Given the description of an element on the screen output the (x, y) to click on. 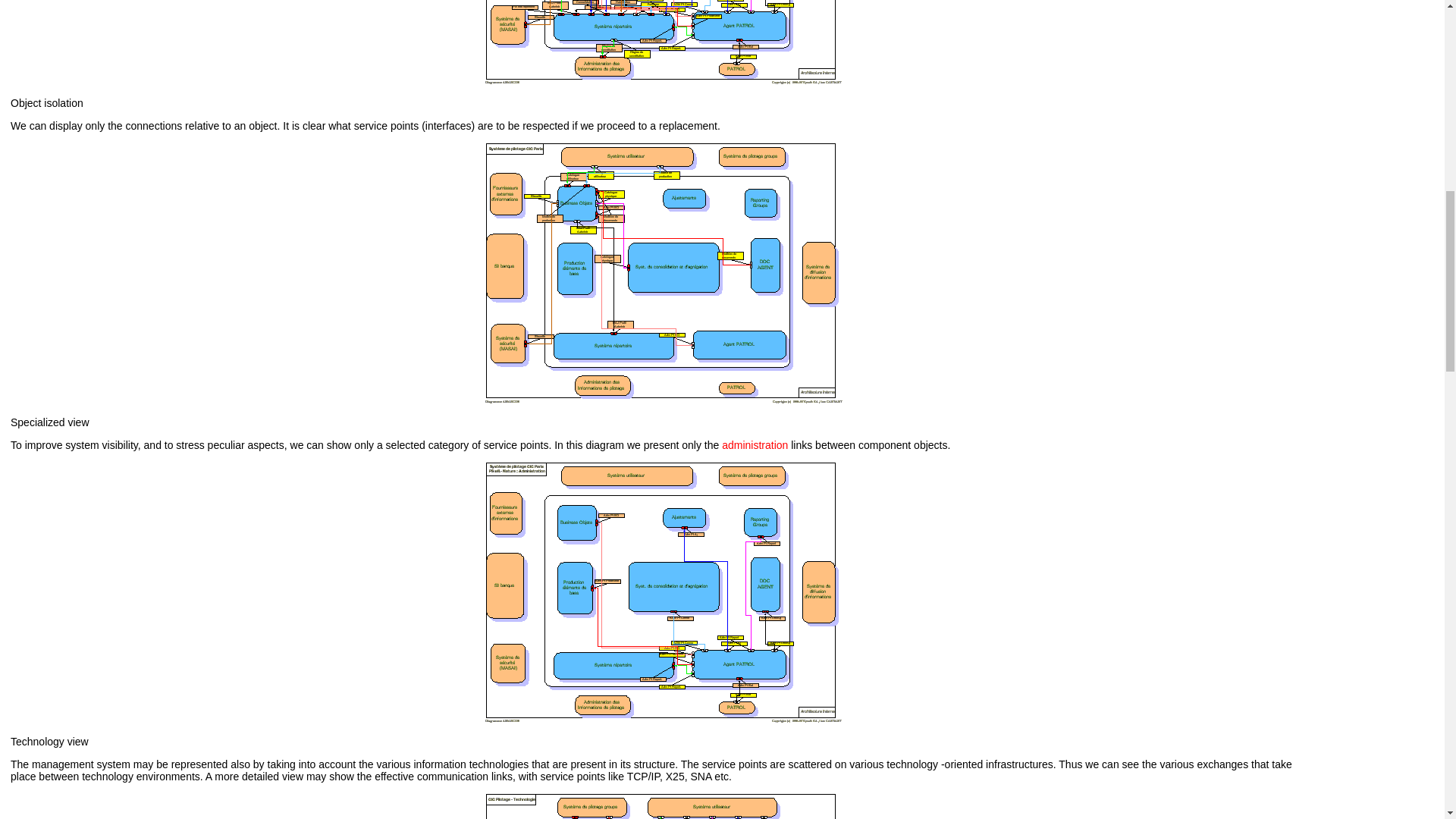
Technology view (49, 741)
Object isolation (46, 102)
Specialized view (49, 422)
